Given the description of an element on the screen output the (x, y) to click on. 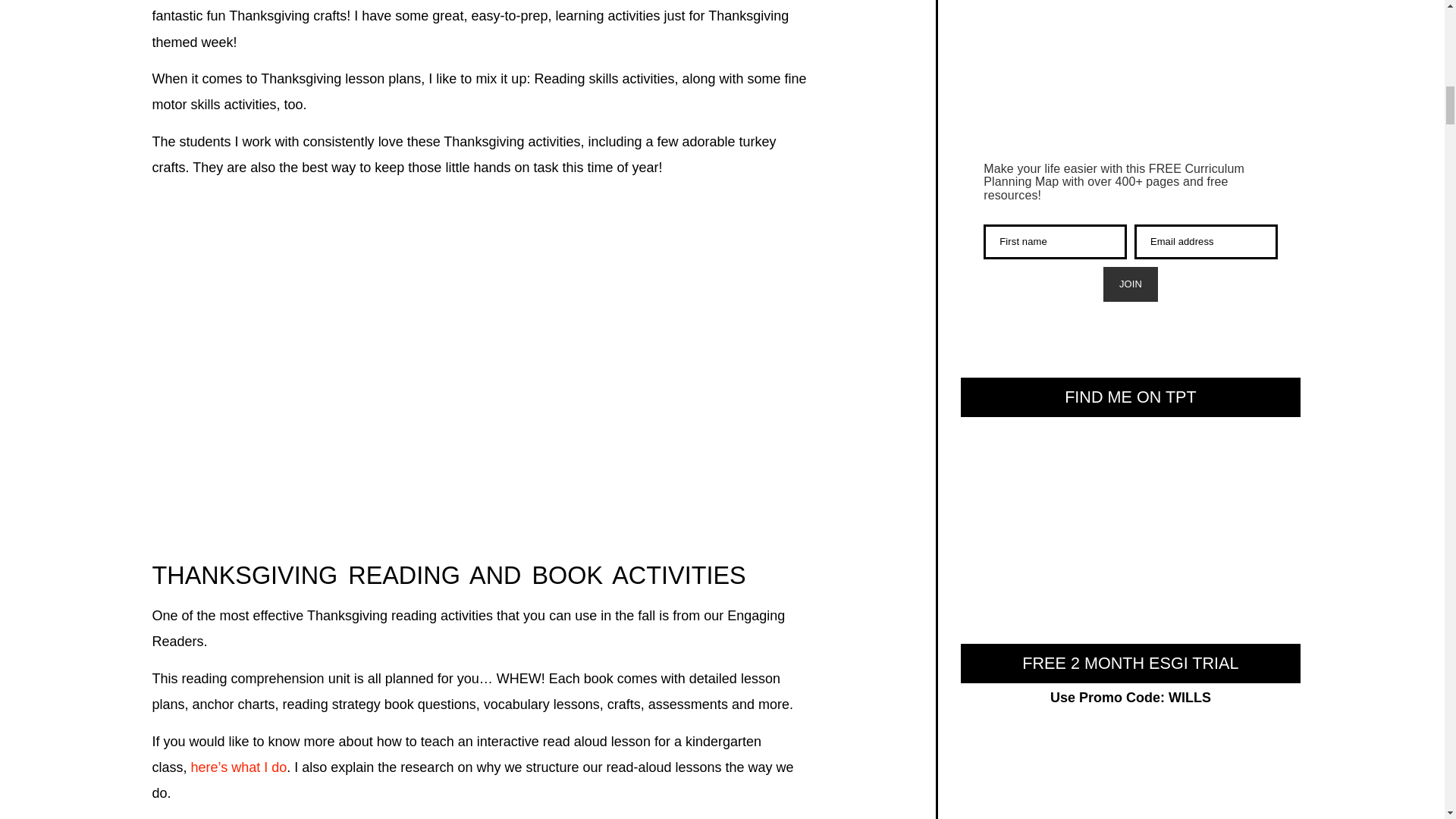
15 Easy and Fun Thanksgiving Activities for Kindergarten 3 (481, 376)
